Given the description of an element on the screen output the (x, y) to click on. 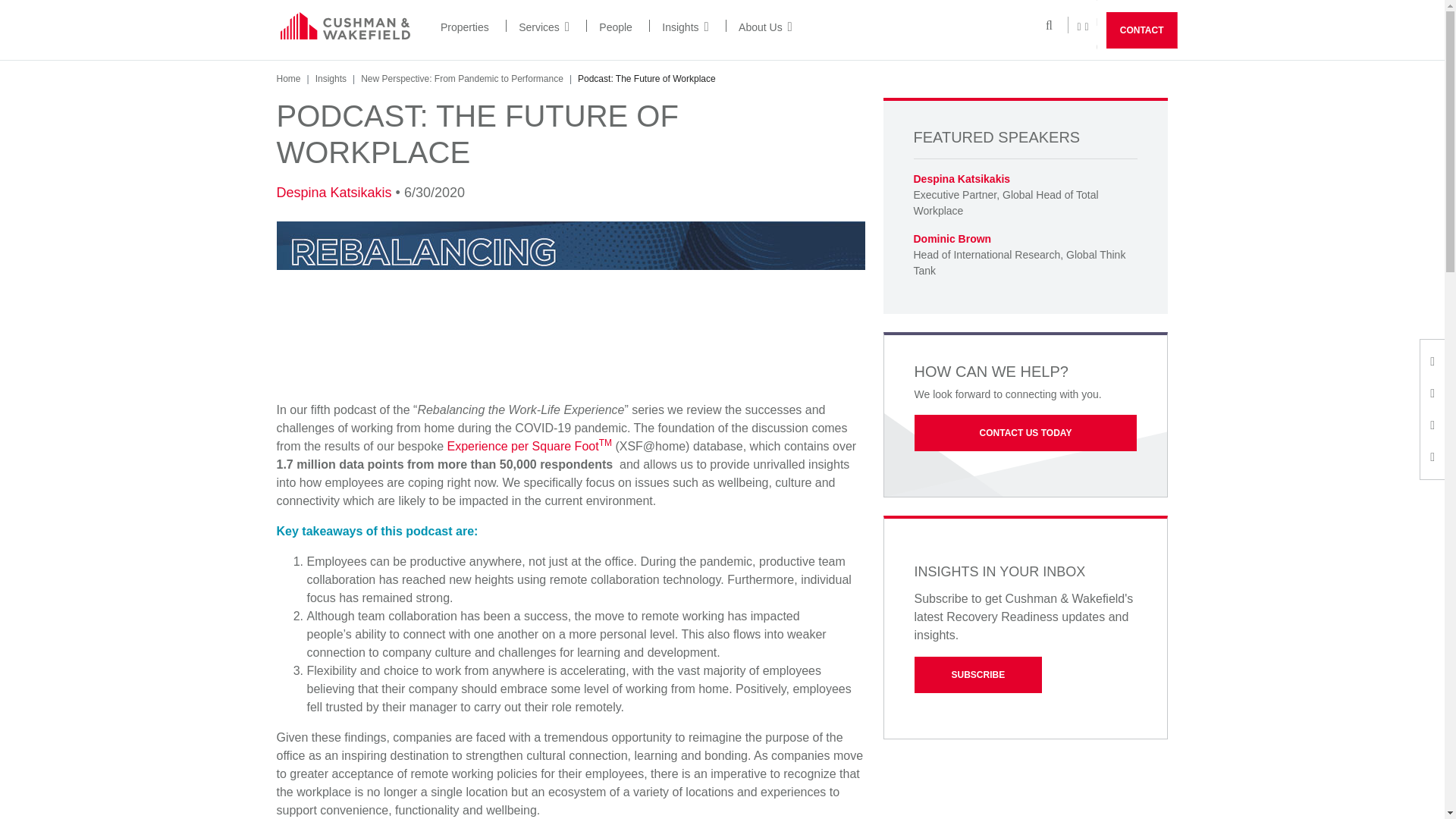
Contact us today (1025, 432)
Services (543, 27)
Properties (465, 27)
People (614, 27)
Subscribe (978, 674)
Insights (684, 27)
About Us (765, 27)
